Given the description of an element on the screen output the (x, y) to click on. 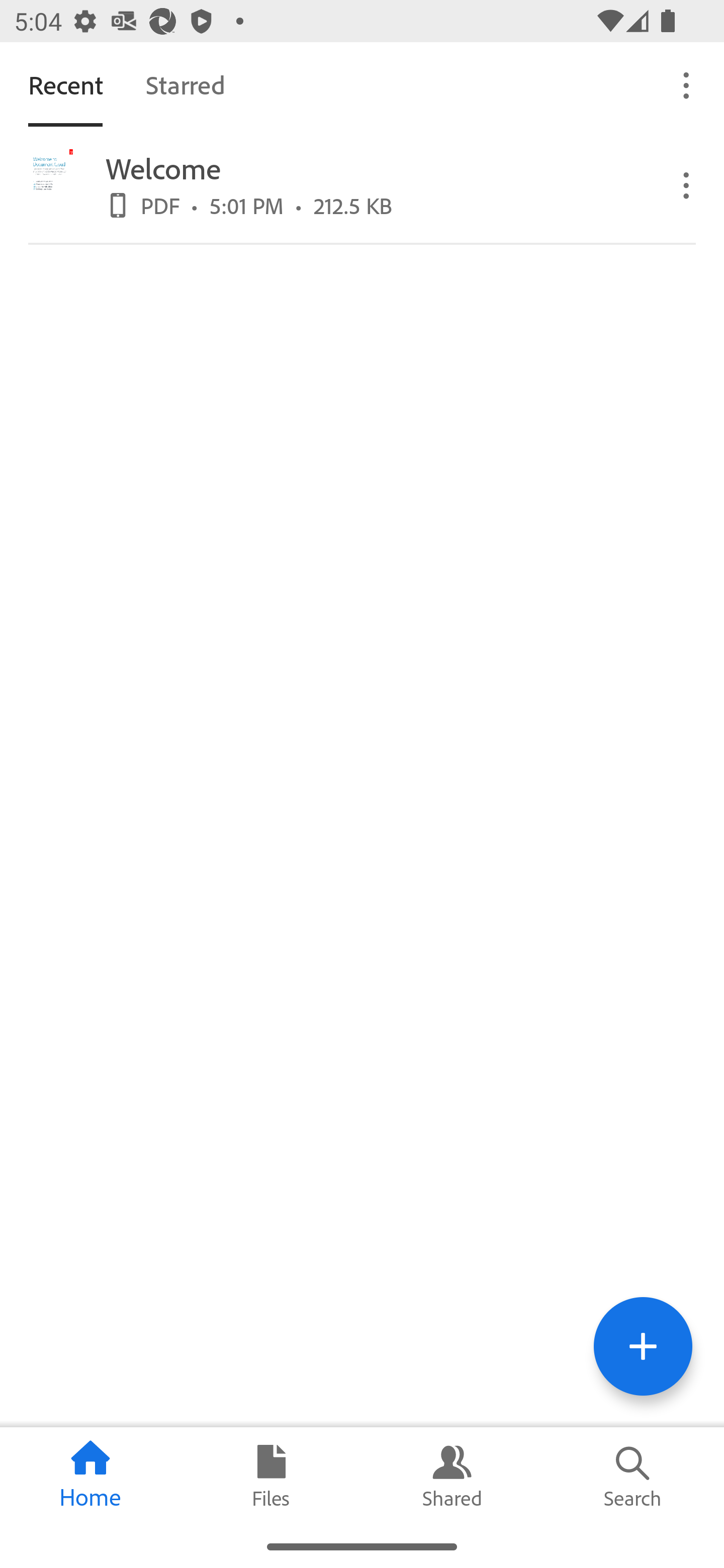
Recent (65, 84)
Starred (185, 84)
Overflow (687, 84)
Overflow (687, 184)
Tools (642, 1345)
Home (90, 1475)
Files (271, 1475)
Shared (452, 1475)
Search (633, 1475)
